Given the description of an element on the screen output the (x, y) to click on. 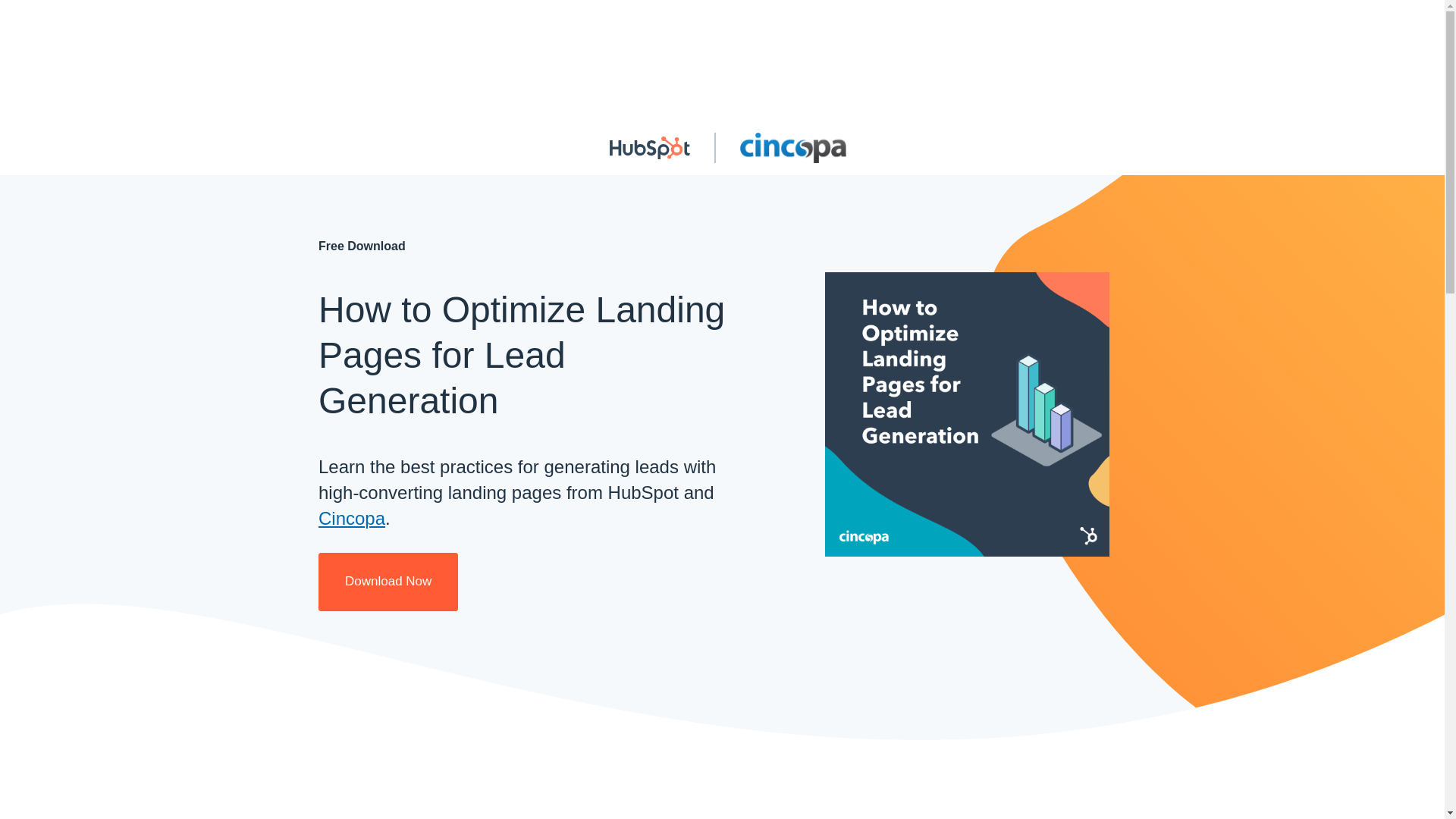
Download Now (388, 581)
Cincopa (351, 517)
